Given the description of an element on the screen output the (x, y) to click on. 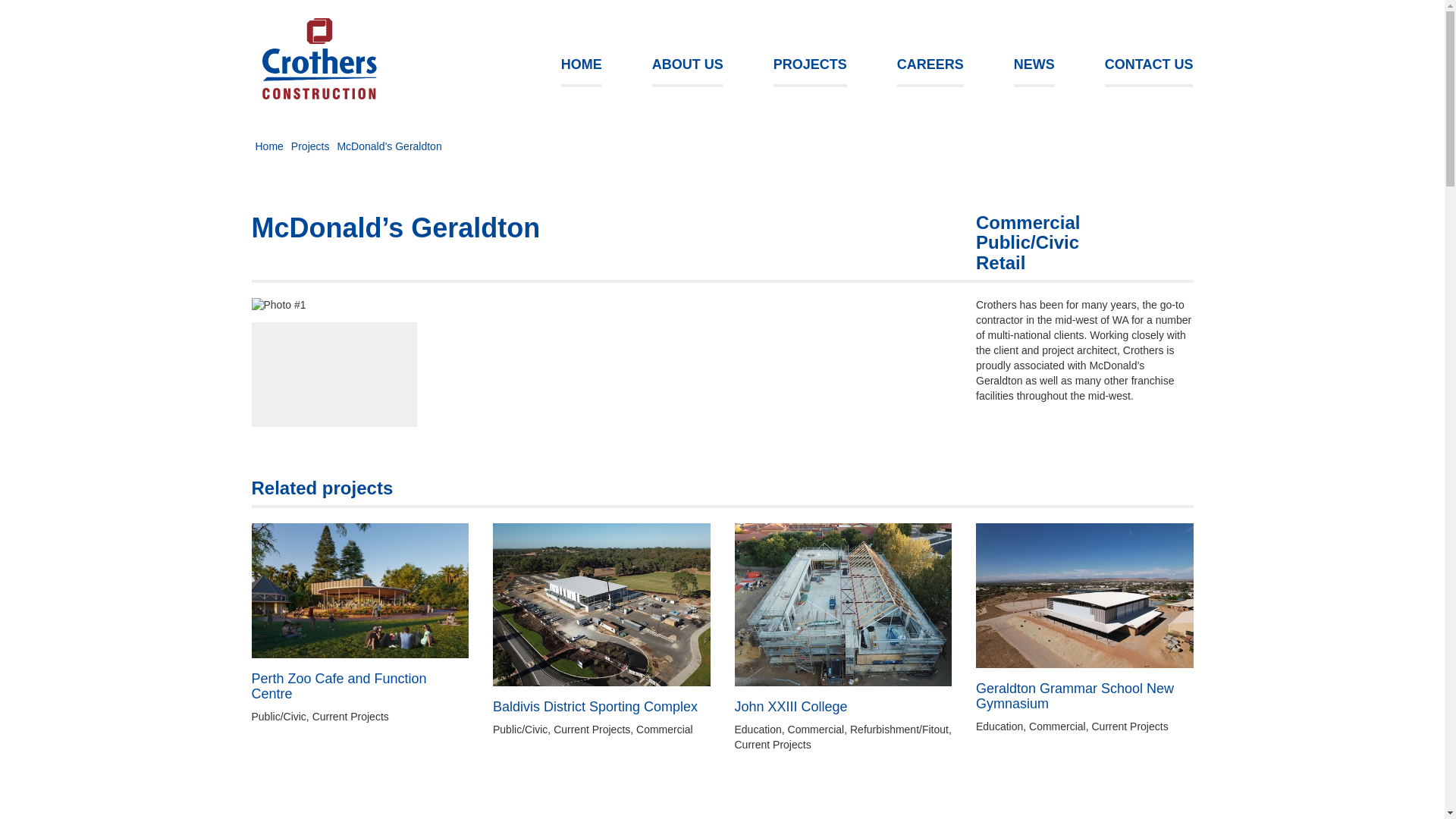
ABOUT US Element type: text (687, 66)
Home Element type: text (268, 146)
CONTACT US Element type: text (1148, 66)
NEWS Element type: text (1033, 66)
HOME Element type: text (581, 66)
CAREERS Element type: text (930, 66)
Home Element type: hover (319, 58)
Projects Element type: text (310, 146)
PROJECTS Element type: text (810, 66)
